Given the description of an element on the screen output the (x, y) to click on. 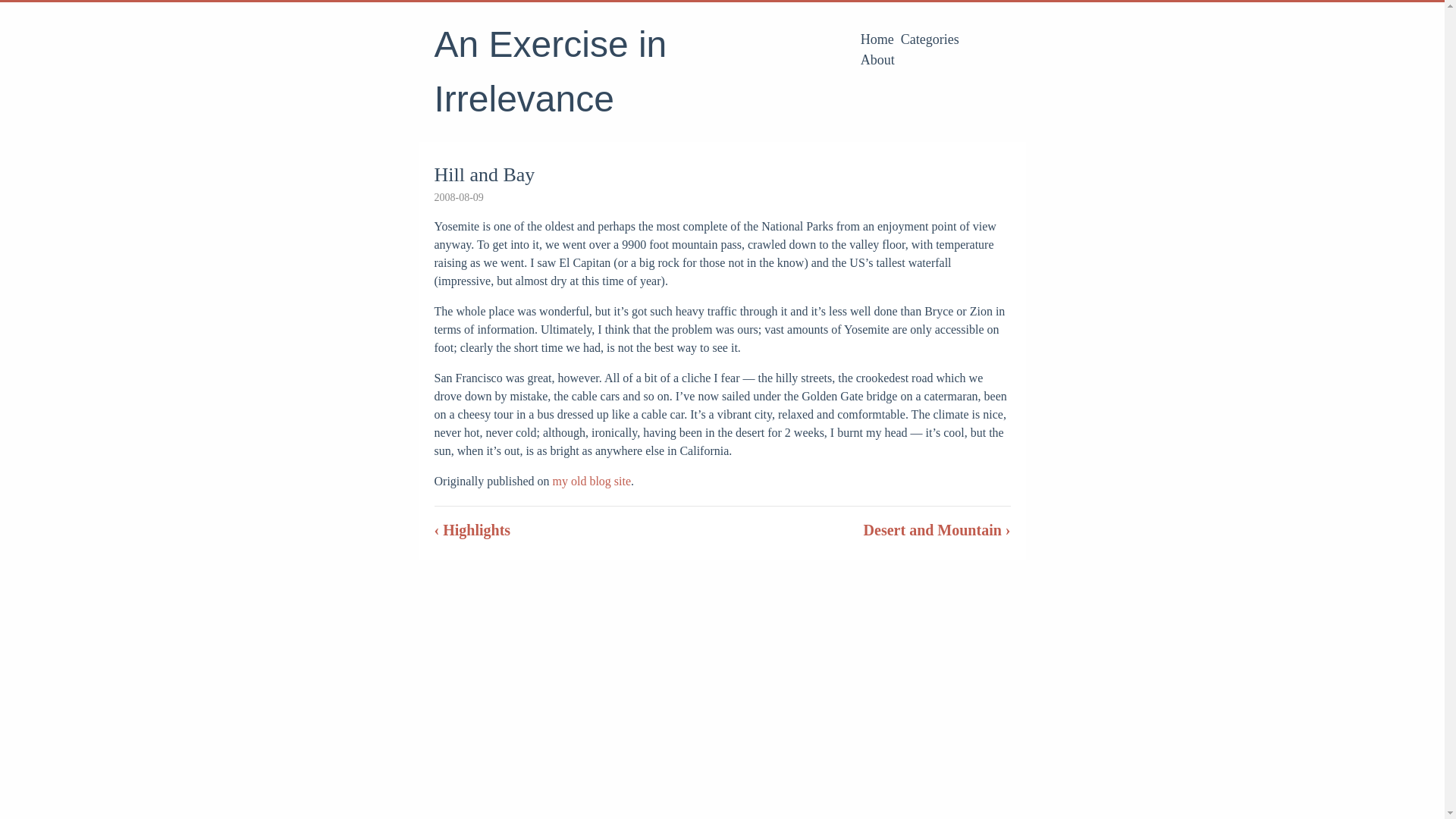
An Exercise in Irrelevance (549, 71)
my old blog site (590, 481)
Hill and Bay (483, 174)
About (877, 59)
Categories (930, 38)
Home (876, 38)
